Given the description of an element on the screen output the (x, y) to click on. 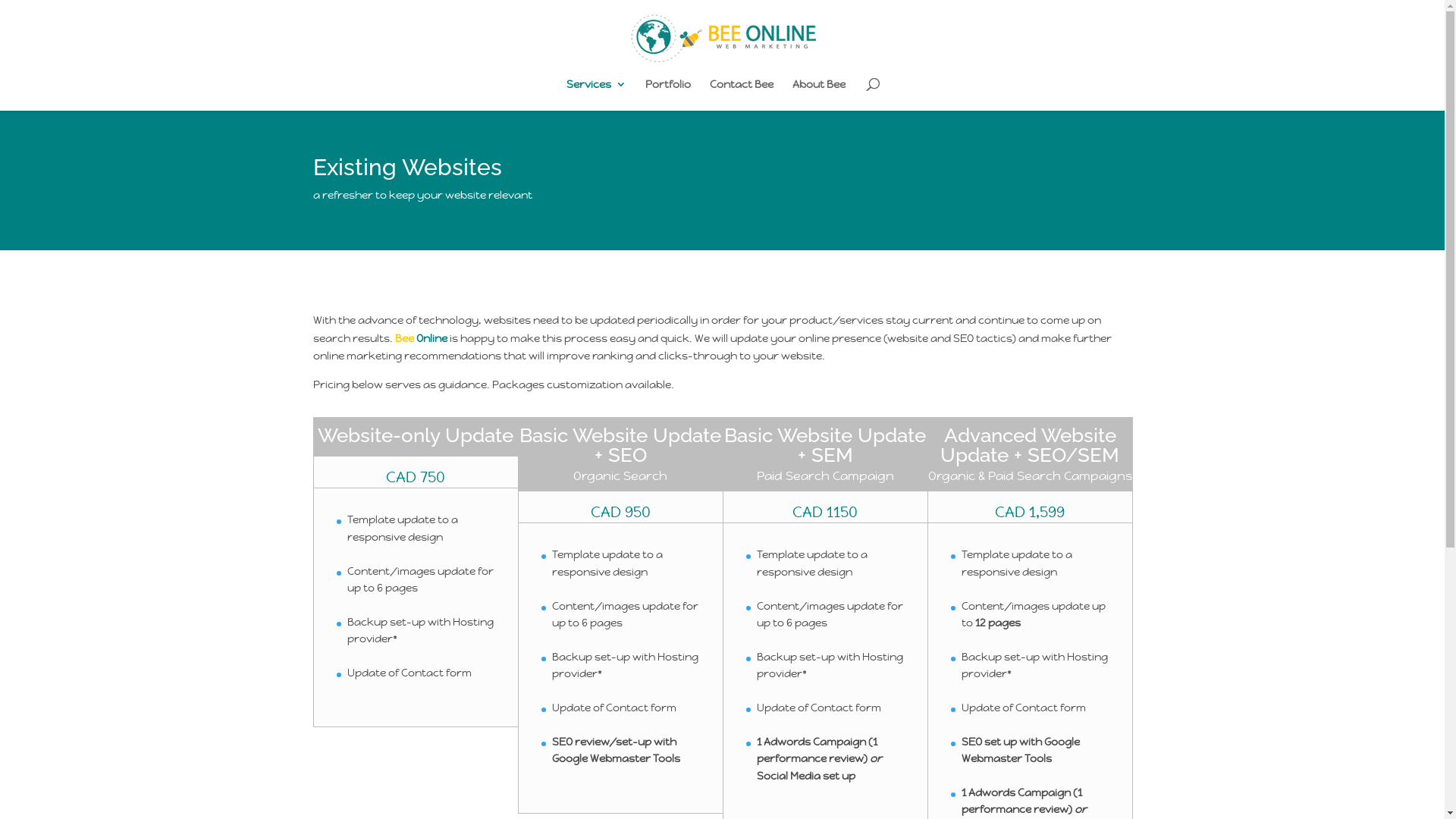
Services Element type: text (596, 94)
About Bee Element type: text (818, 94)
Contact Bee Element type: text (741, 94)
Portfolio Element type: text (667, 94)
